Given the description of an element on the screen output the (x, y) to click on. 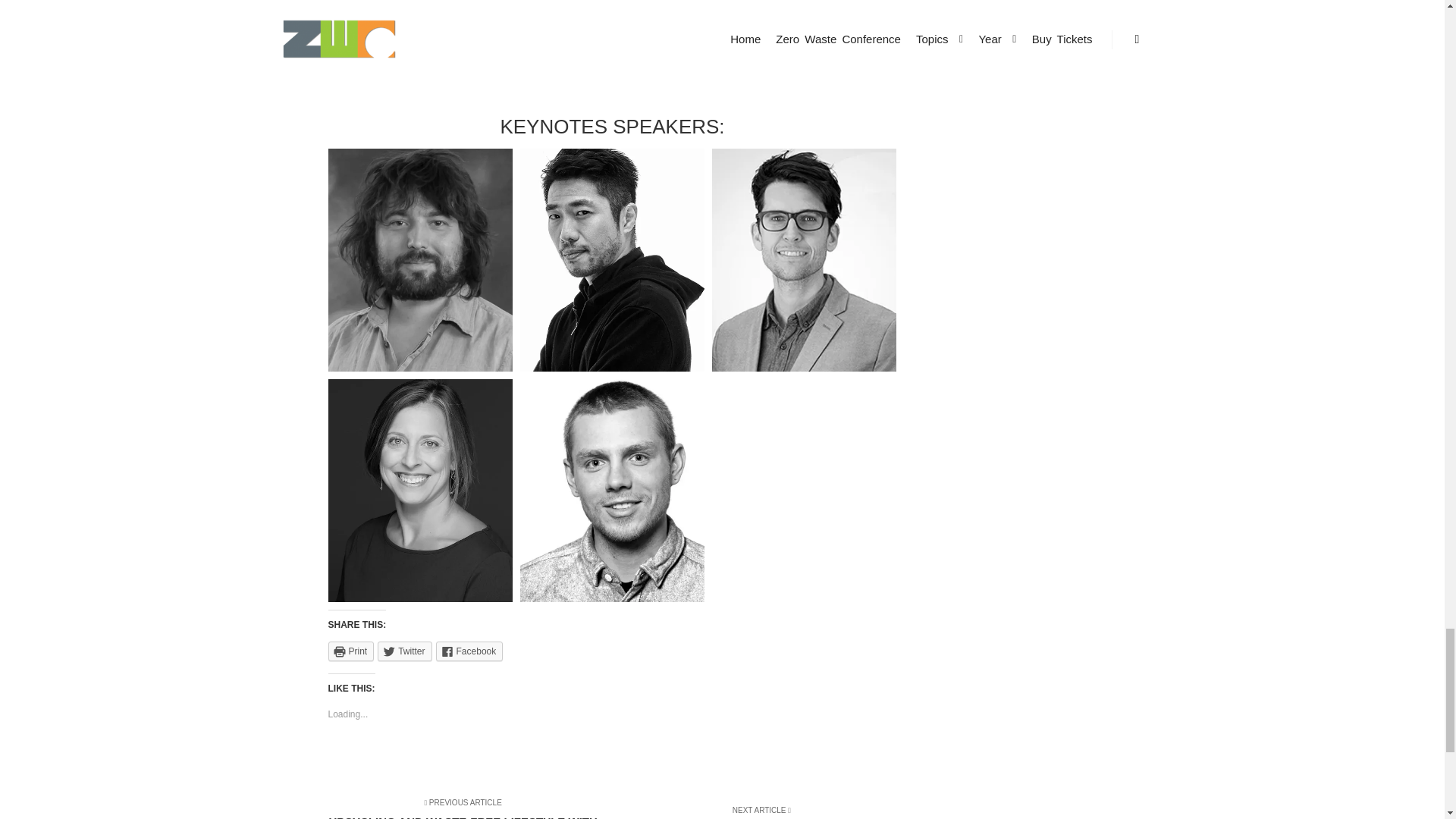
Click to print (350, 650)
View Past Conferences Archive (612, 65)
Click to share on Twitter (403, 650)
Twitter (403, 650)
ZWC19 Registration (611, 24)
Facebook (469, 650)
Click to share on Facebook (469, 650)
Print (350, 650)
